Given the description of an element on the screen output the (x, y) to click on. 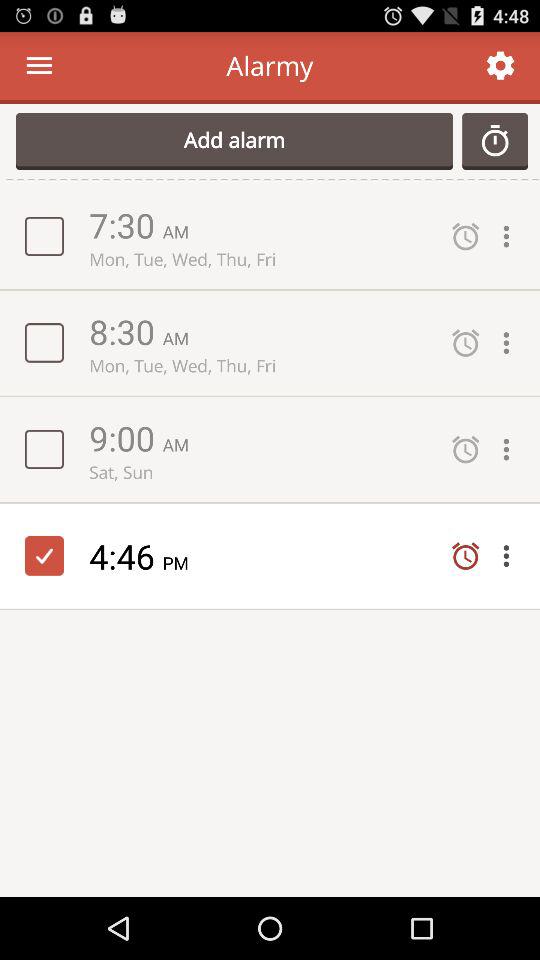
open drop down menu (511, 555)
